Given the description of an element on the screen output the (x, y) to click on. 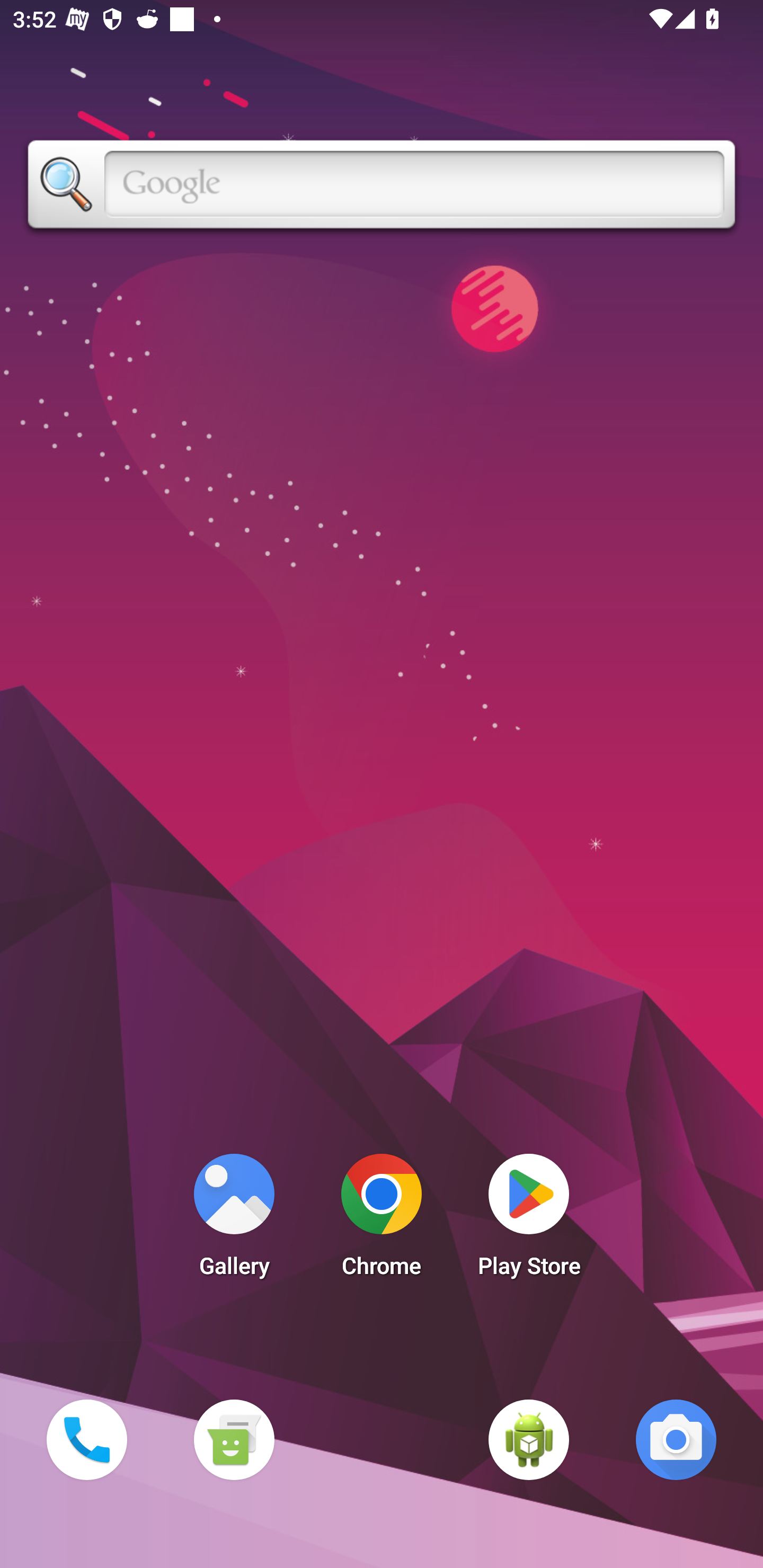
Gallery (233, 1220)
Chrome (381, 1220)
Play Store (528, 1220)
Phone (86, 1439)
Messaging (233, 1439)
WebView Browser Tester (528, 1439)
Camera (676, 1439)
